Given the description of an element on the screen output the (x, y) to click on. 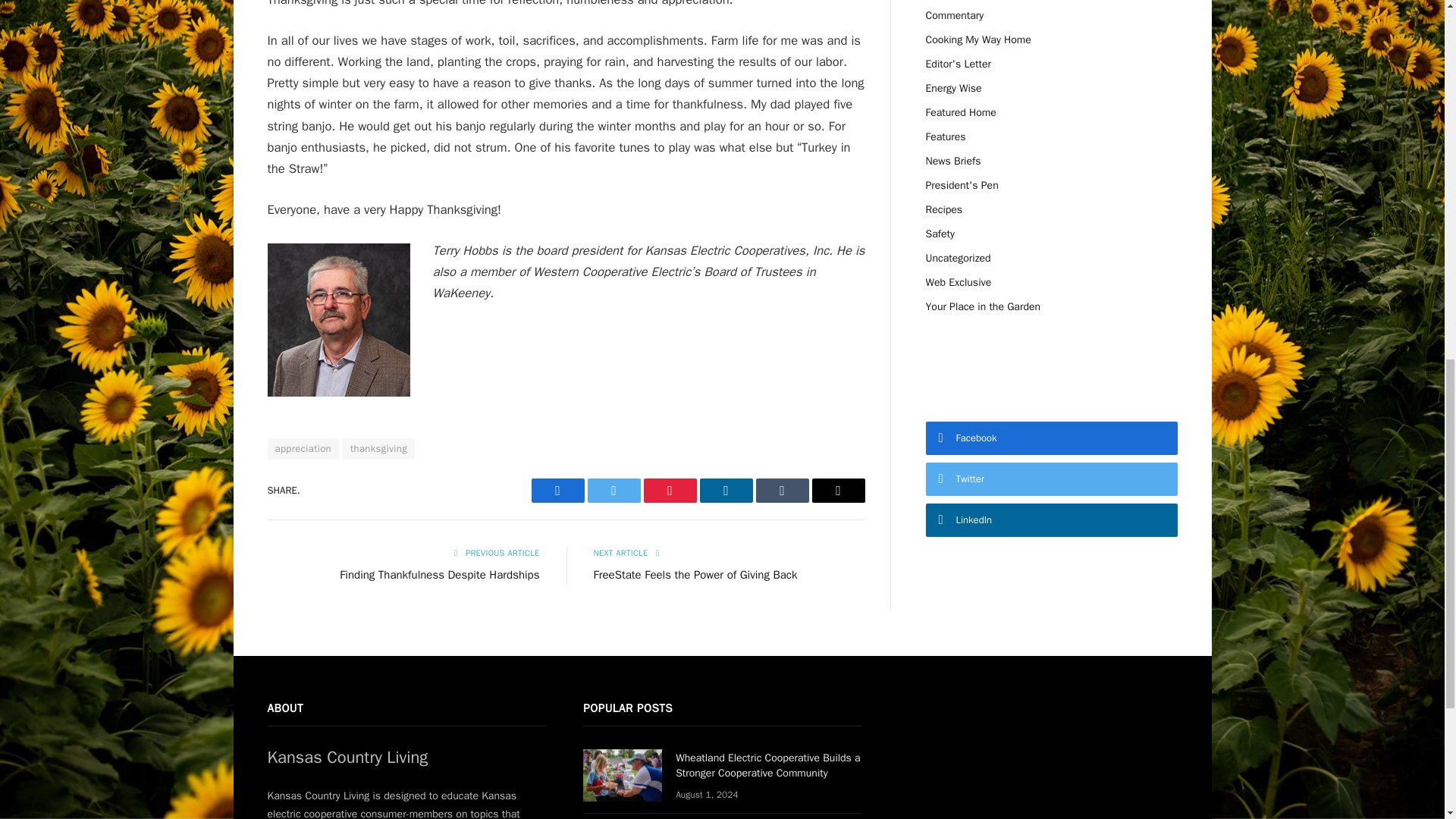
Share on LinkedIn (725, 490)
Share on Pinterest (669, 490)
Share on Facebook (557, 490)
